Given the description of an element on the screen output the (x, y) to click on. 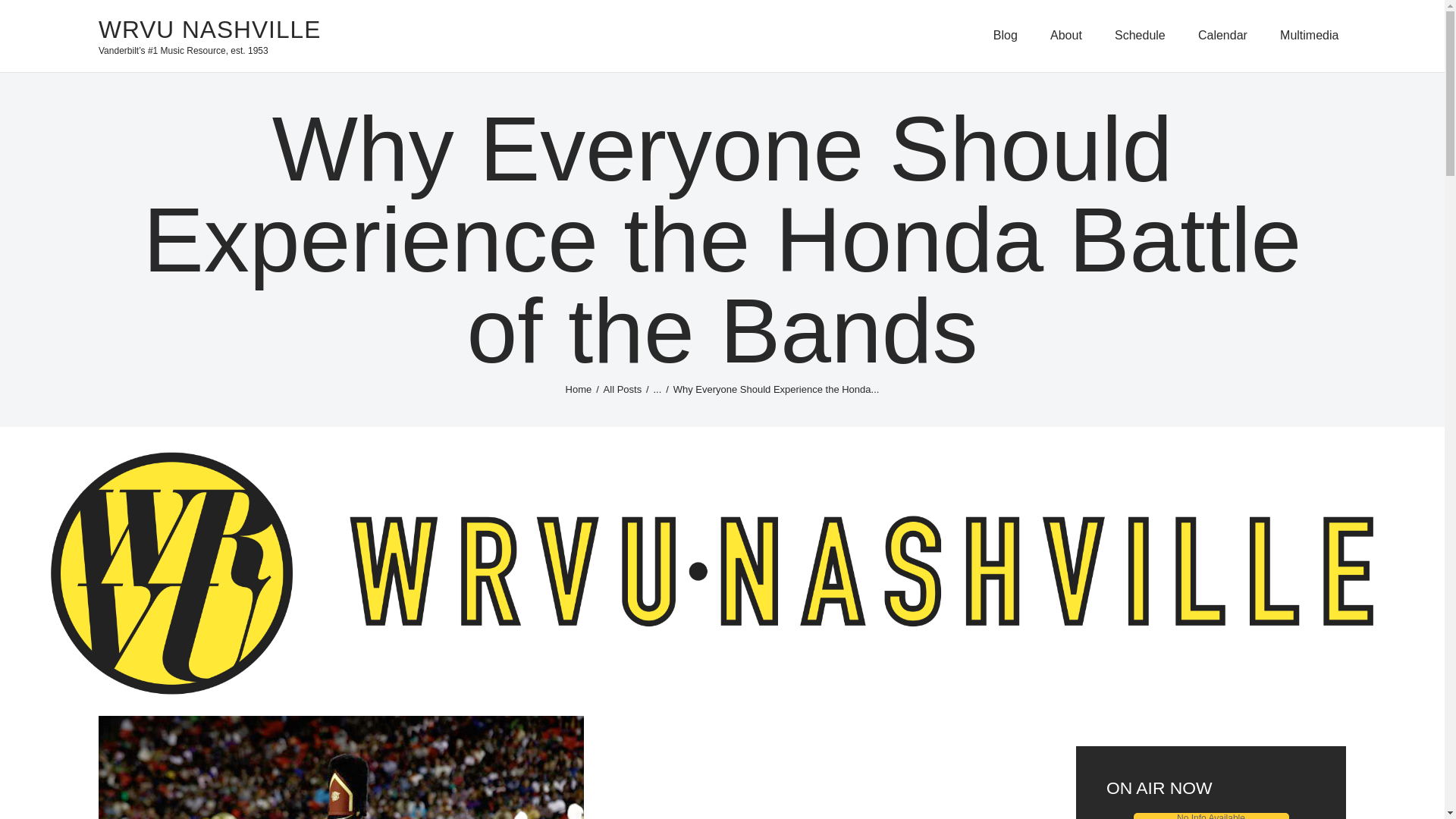
Calendar (1222, 35)
Home (579, 389)
Multimedia (1308, 35)
Blog (1005, 35)
All Posts (623, 389)
About (1065, 35)
Schedule (1139, 35)
